Given the description of an element on the screen output the (x, y) to click on. 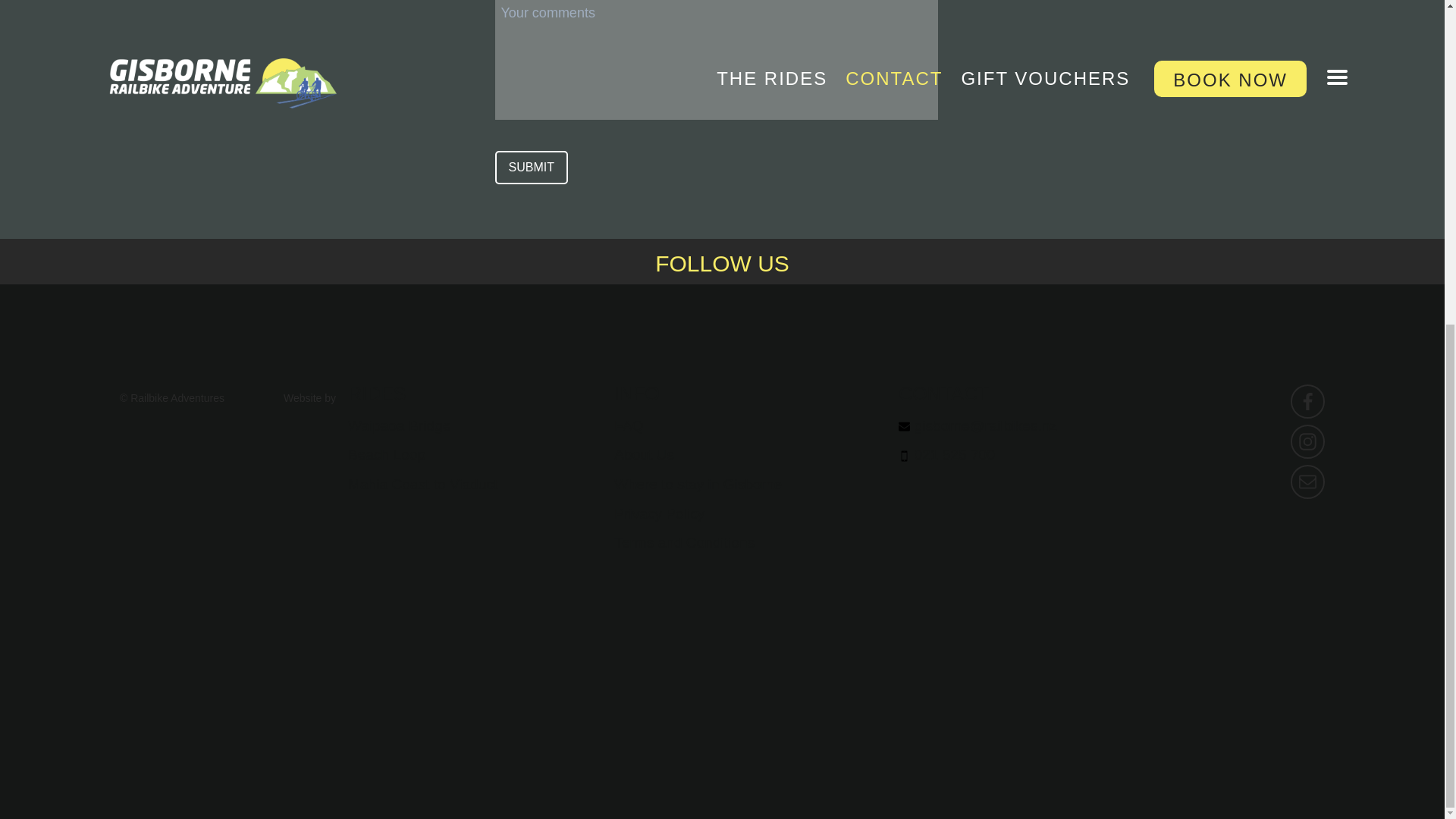
SUBMIT (531, 167)
